Given the description of an element on the screen output the (x, y) to click on. 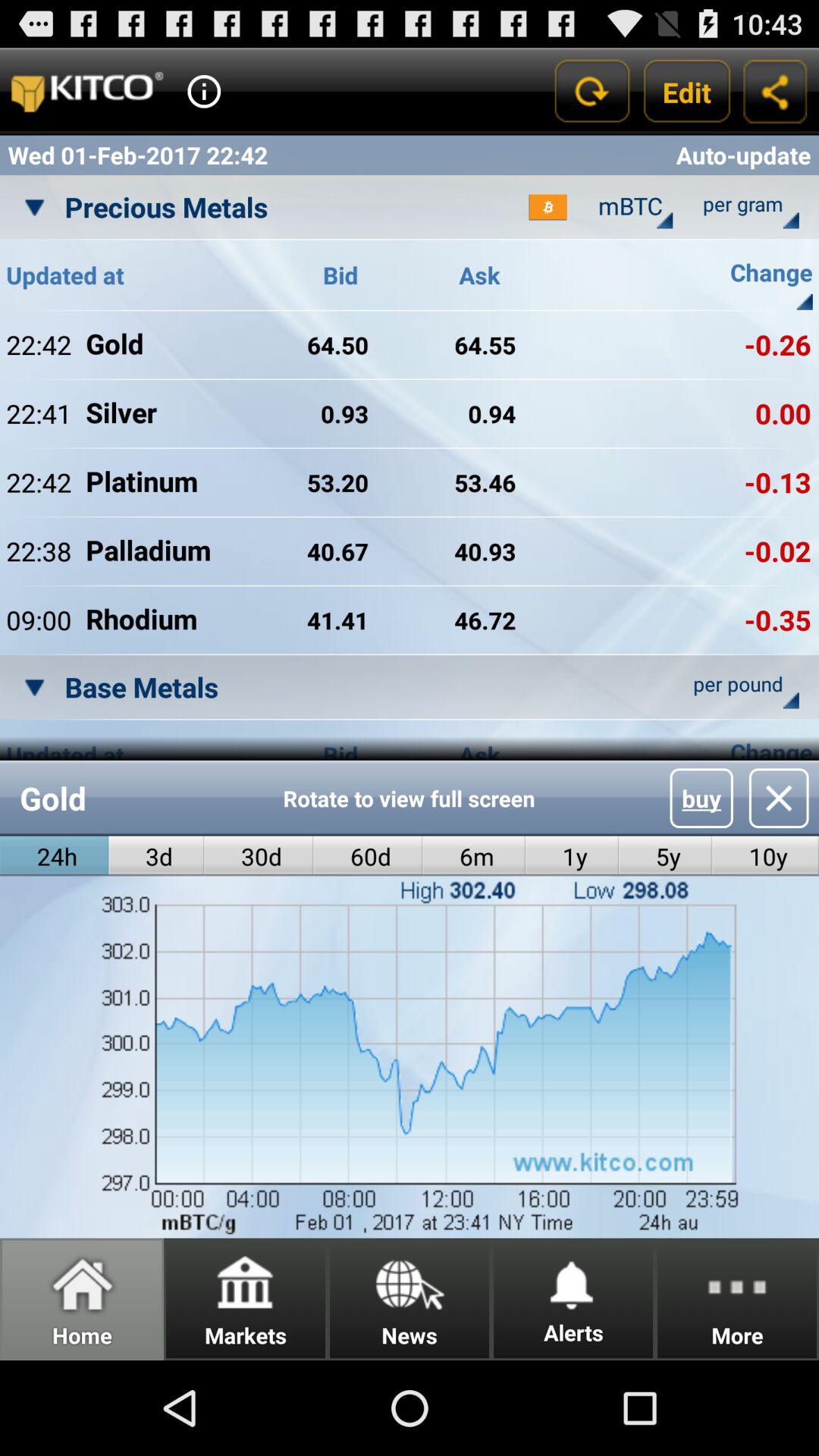
refresh page (591, 91)
